Given the description of an element on the screen output the (x, y) to click on. 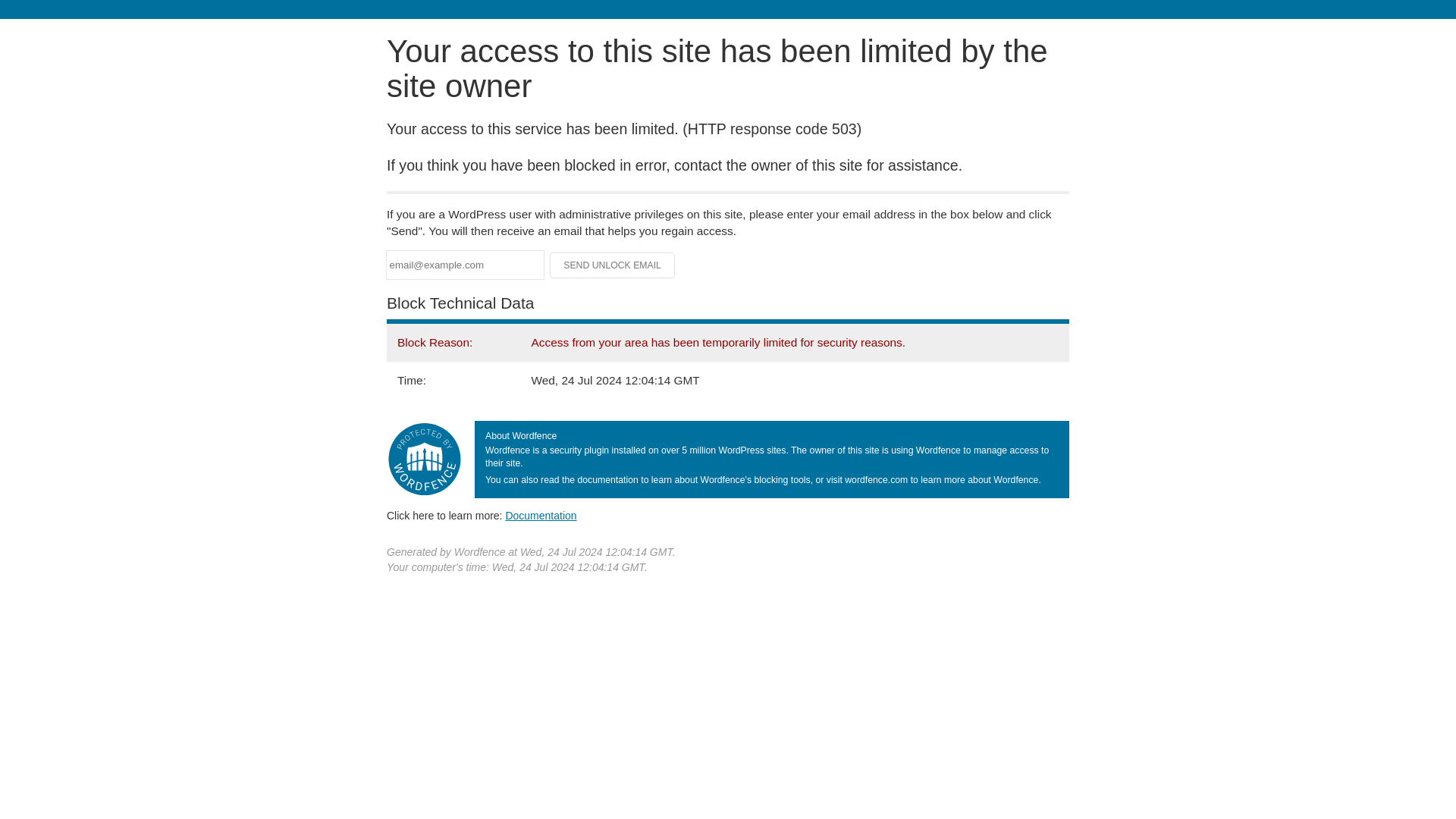
Documentation (540, 515)
Send Unlock Email (612, 265)
Send Unlock Email (612, 265)
